Given the description of an element on the screen output the (x, y) to click on. 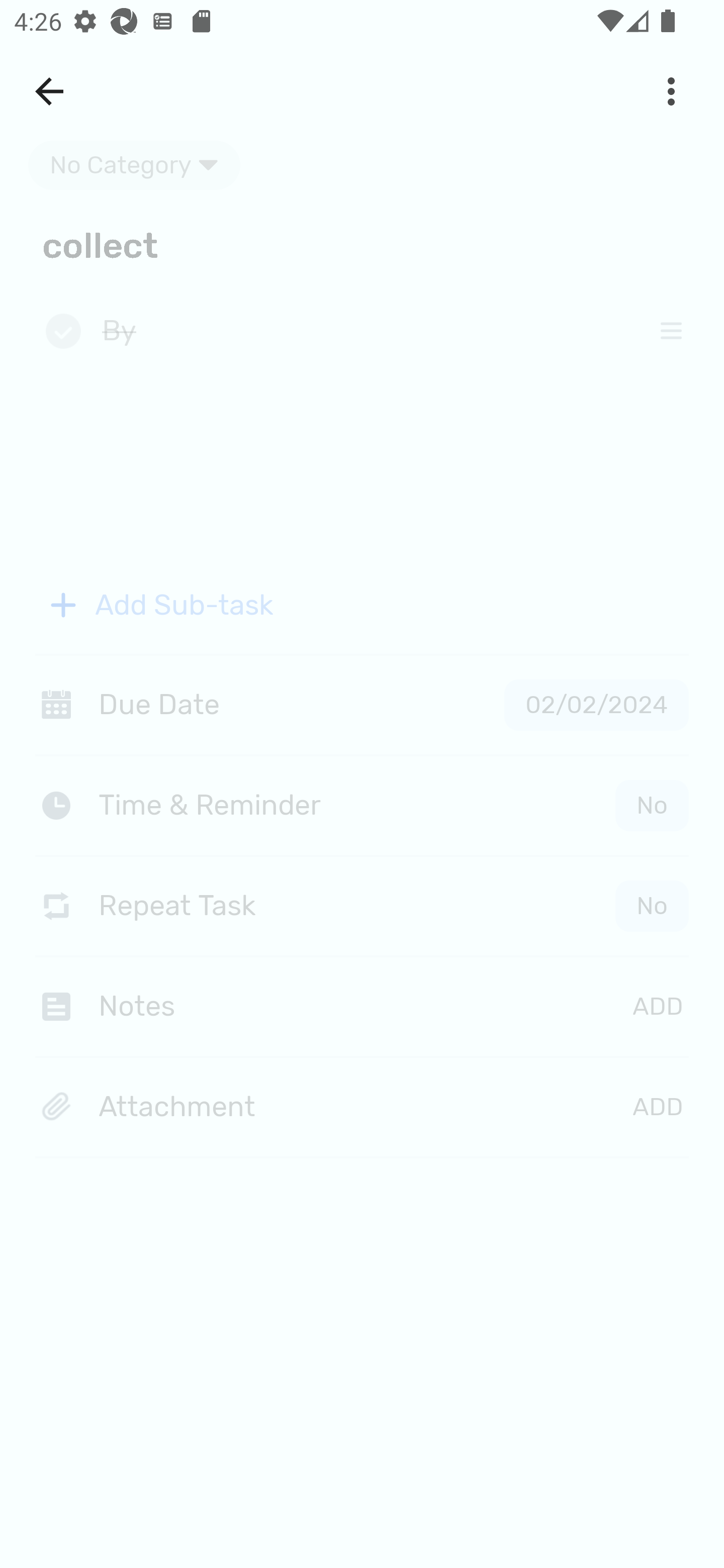
No Category (134, 165)
collect (362, 244)
By (366, 331)
Add Sub-task (362, 604)
Due Date 02/02/2024 (362, 704)
Time & Reminder No (365, 804)
Repeat Task No (362, 905)
Notes ADD (362, 1006)
Attachment ADD (362, 1107)
